Given the description of an element on the screen output the (x, y) to click on. 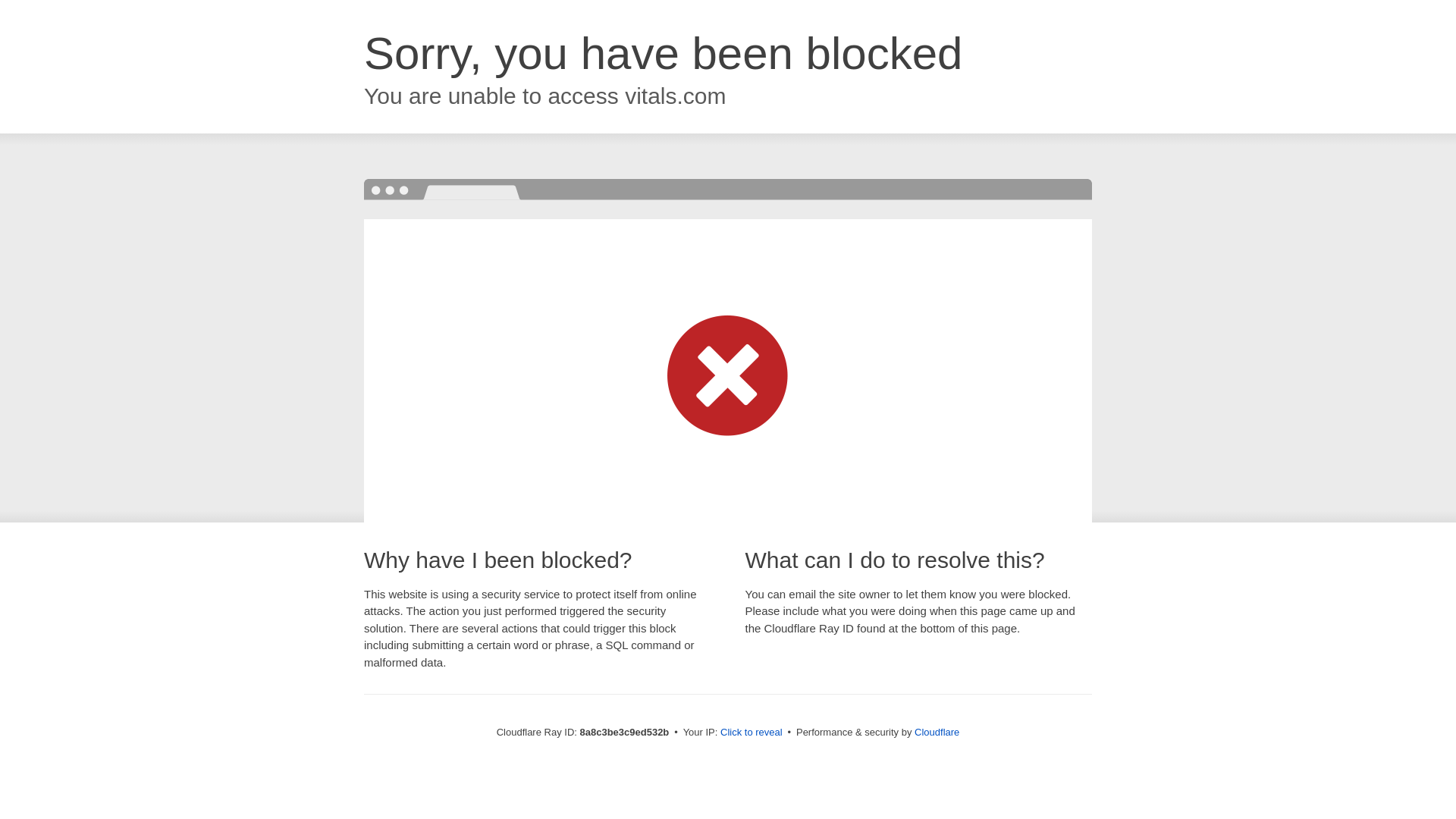
Cloudflare (936, 731)
Click to reveal (751, 732)
